Given the description of an element on the screen output the (x, y) to click on. 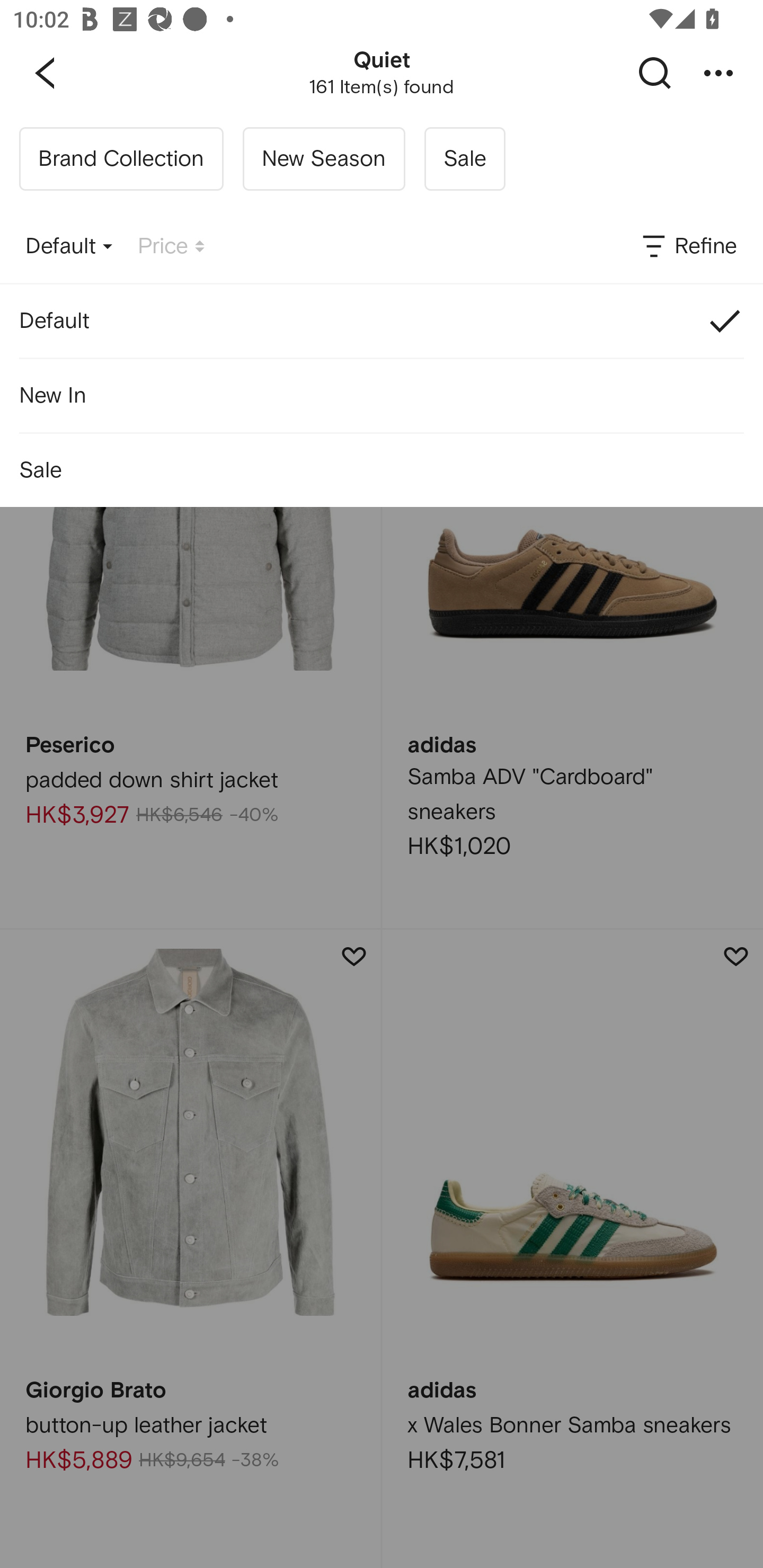
Brand Collection (121, 158)
New Season (323, 158)
Sale (464, 158)
Default (68, 246)
Price (171, 246)
Refine (688, 246)
Default (381, 320)
New In (381, 394)
Sale (381, 470)
